Given the description of an element on the screen output the (x, y) to click on. 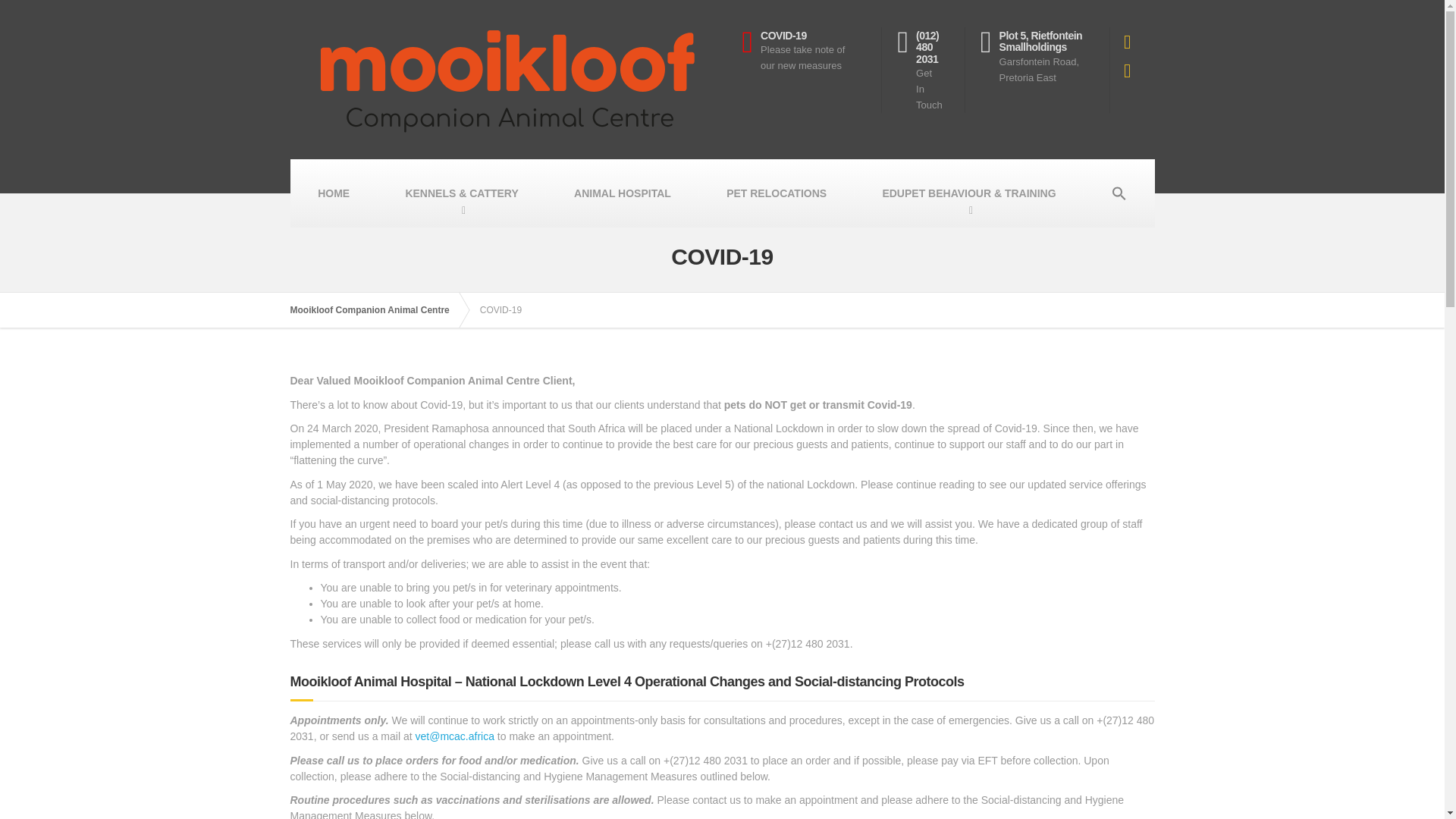
Mooikloof Companion Animal Centre (376, 309)
ANIMAL HOSPITAL (622, 192)
Go to Mooikloof Companion Animal Centre. (376, 309)
PET RELOCATIONS (776, 192)
HOME (811, 70)
